Given the description of an element on the screen output the (x, y) to click on. 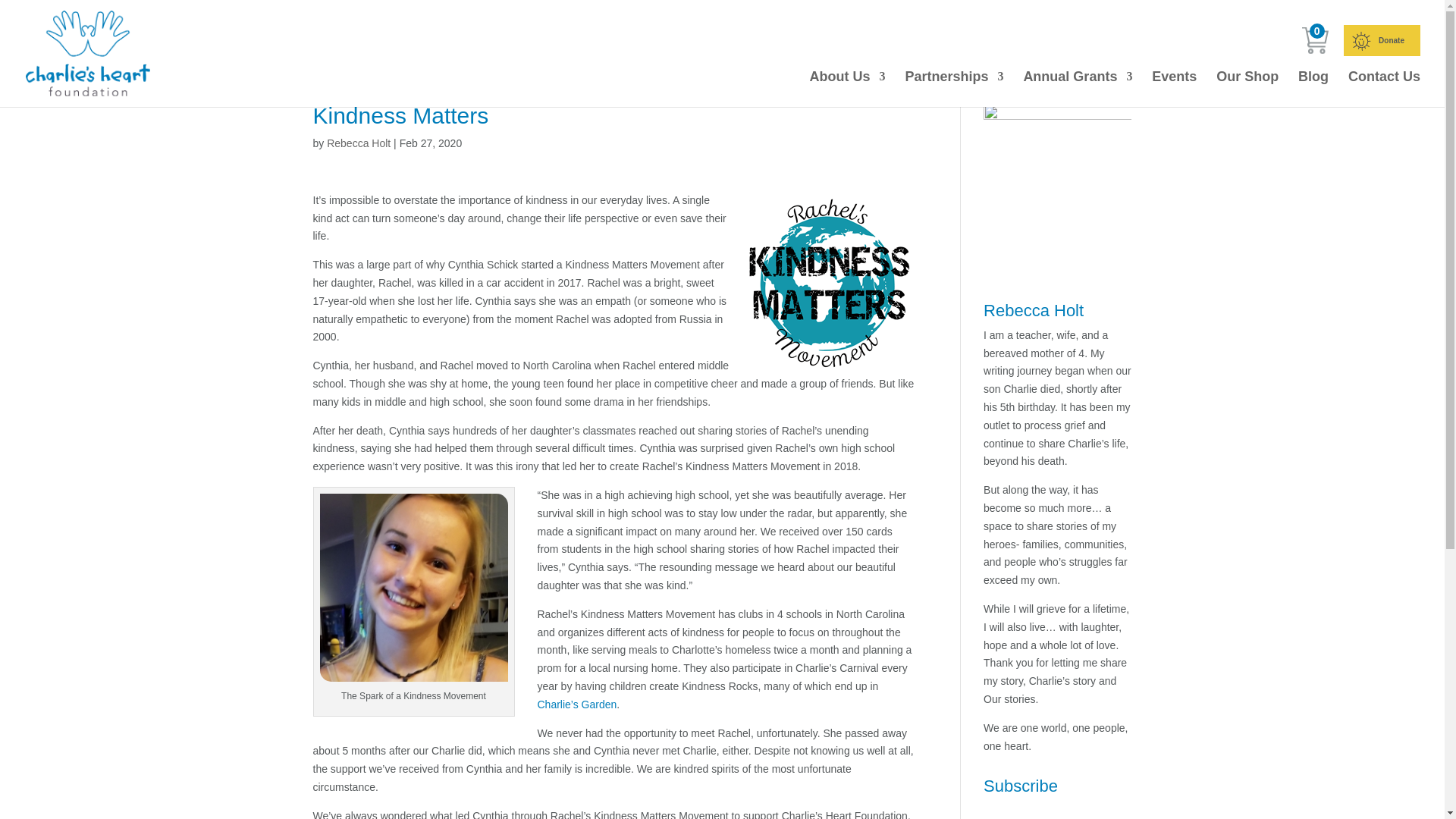
0 (1314, 40)
Posts by Rebecca Holt (358, 143)
Rebecca Holt (358, 143)
Our Shop (1246, 89)
Events (1173, 89)
Partnerships (953, 89)
About Us (847, 89)
Annual Grants (1077, 89)
View your shopping cart (1314, 40)
Contact Us (1384, 89)
